Given the description of an element on the screen output the (x, y) to click on. 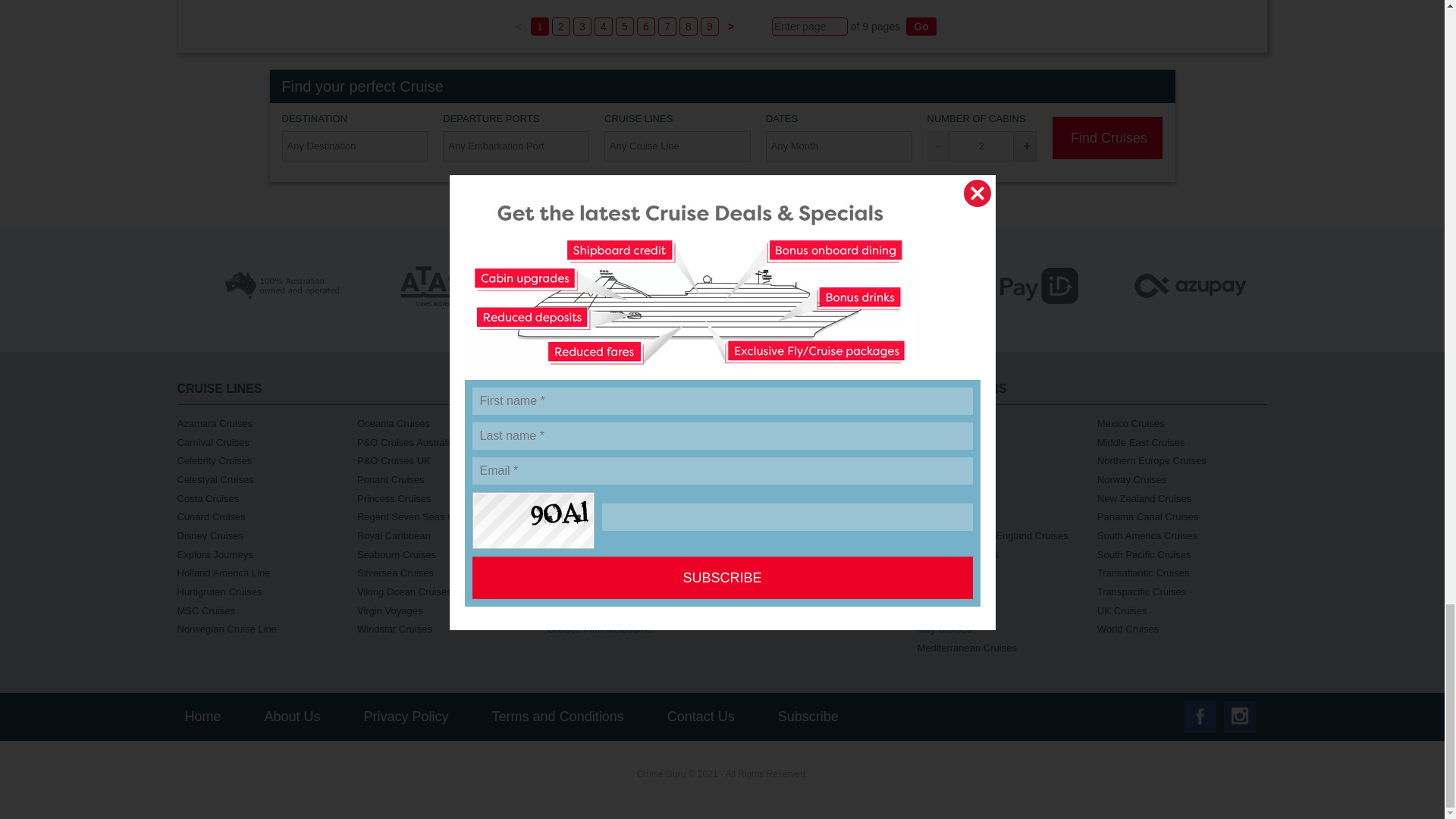
Go (920, 26)
2 (981, 146)
- (936, 146)
Find Cruises (1106, 137)
